Given the description of an element on the screen output the (x, y) to click on. 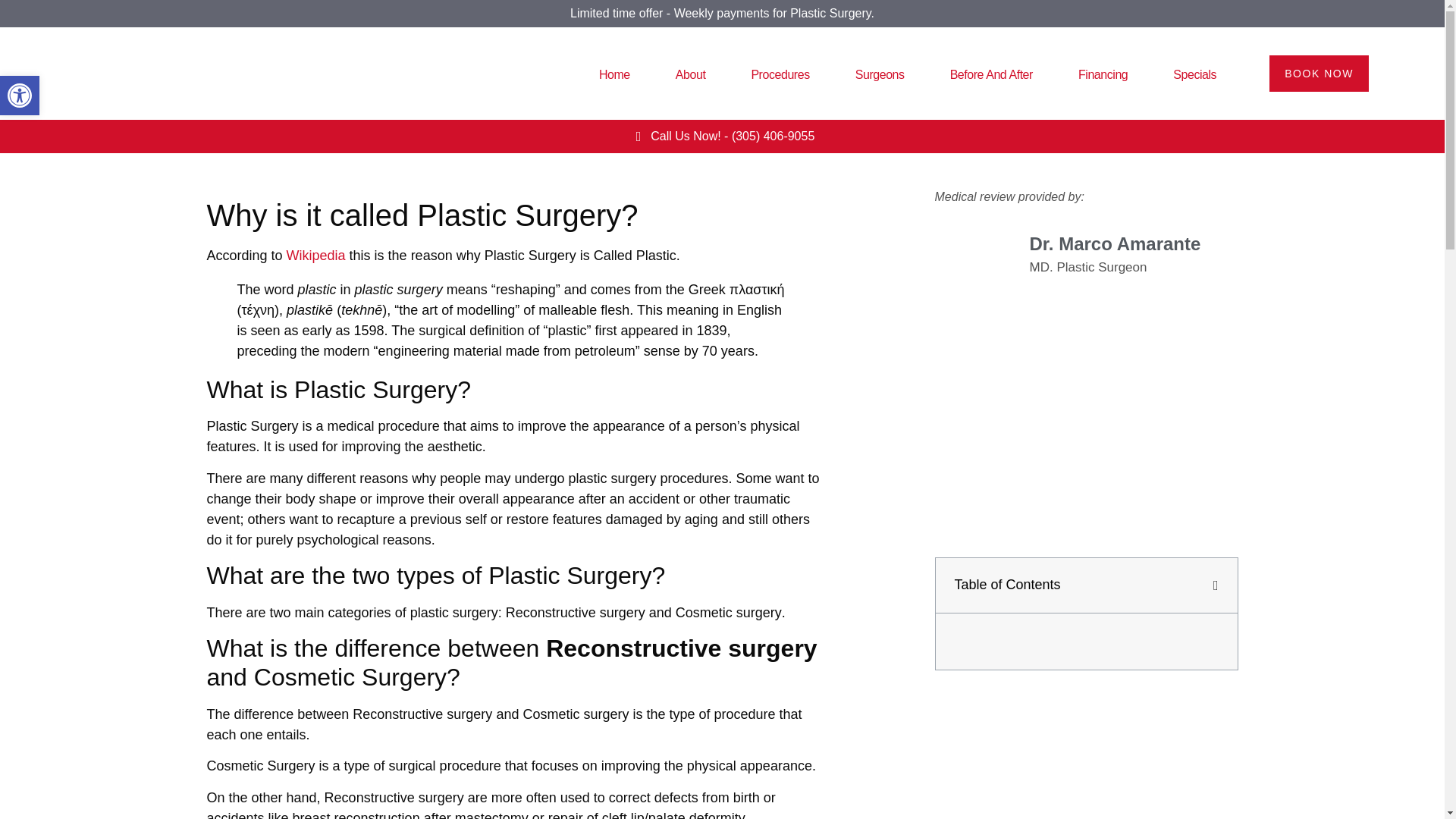
Home (614, 74)
Accessibility Tools (19, 95)
About (690, 74)
Limited time offer - Weekly payments for Plastic Surgery. (722, 12)
Procedures (779, 74)
Accessibility Tools (19, 95)
seduction-logo (174, 73)
